Given the description of an element on the screen output the (x, y) to click on. 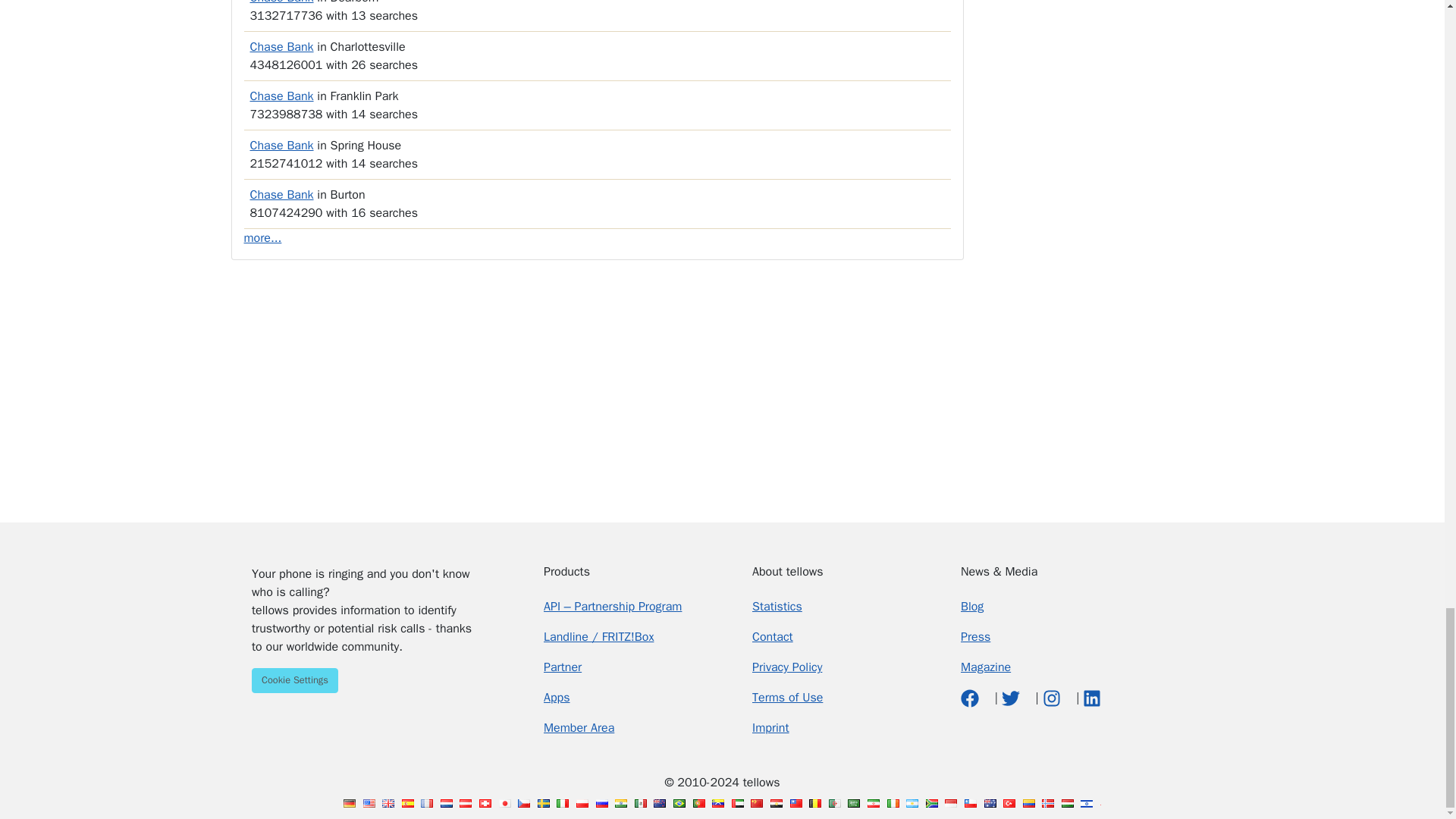
tellows Spain (407, 803)
Blog (972, 606)
tellows Austria (465, 803)
Facebook (971, 697)
LinkedIn (1091, 697)
Instagram (1053, 697)
tellows Netherlands (446, 803)
tellows Great Britain (387, 803)
tellows France (426, 803)
Presse (975, 636)
Magazin (985, 667)
tellows Germany (349, 803)
tellows USA (368, 803)
twitter (1012, 697)
